Given the description of an element on the screen output the (x, y) to click on. 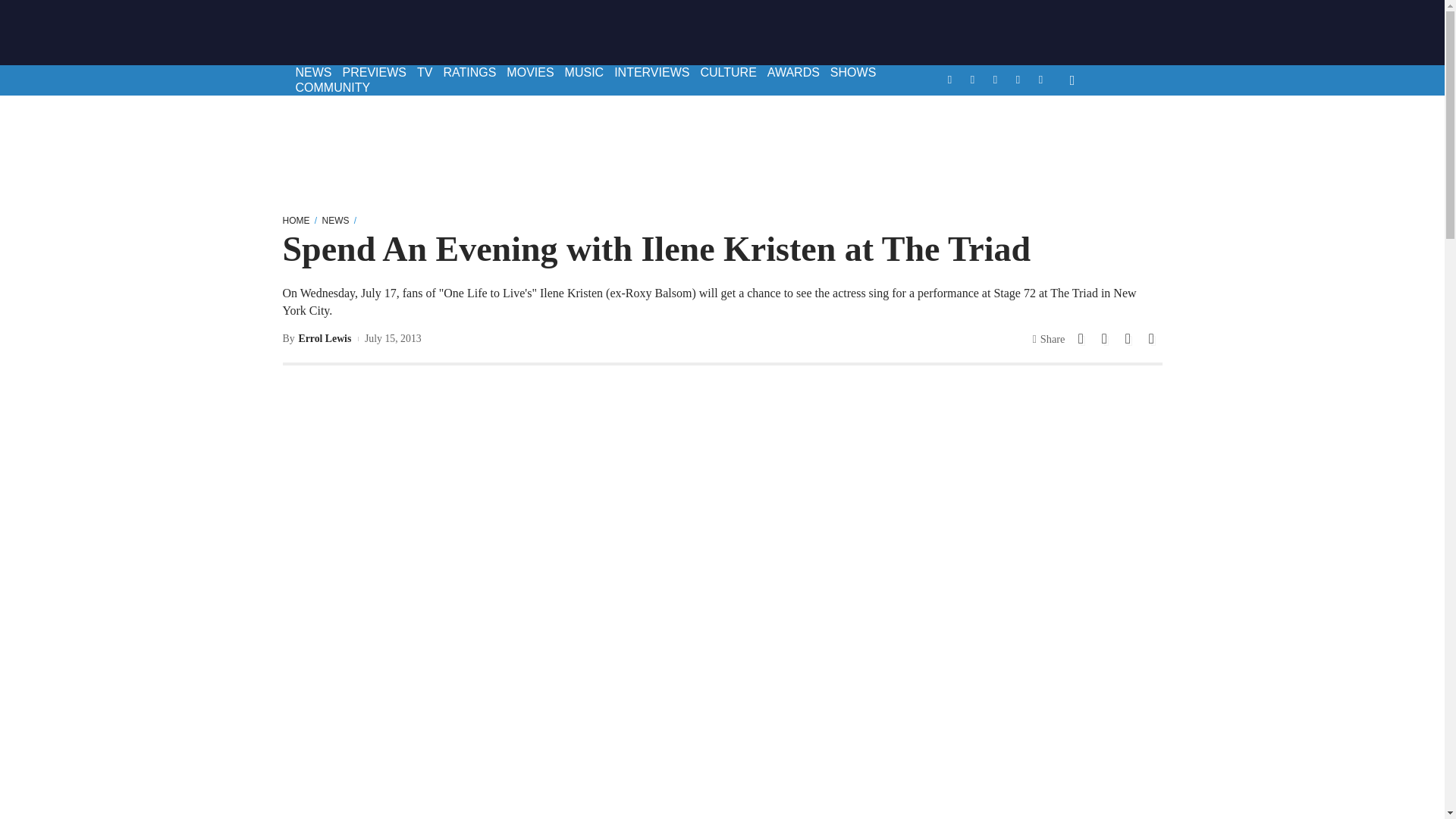
MOVIES (529, 72)
NEWS (312, 72)
CULTURE (727, 72)
MUSIC (584, 72)
COMMUNITY (332, 87)
INTERVIEWS (651, 72)
TV (425, 72)
PREVIEWS (373, 72)
AWARDS (793, 72)
RATINGS (469, 72)
